Given the description of an element on the screen output the (x, y) to click on. 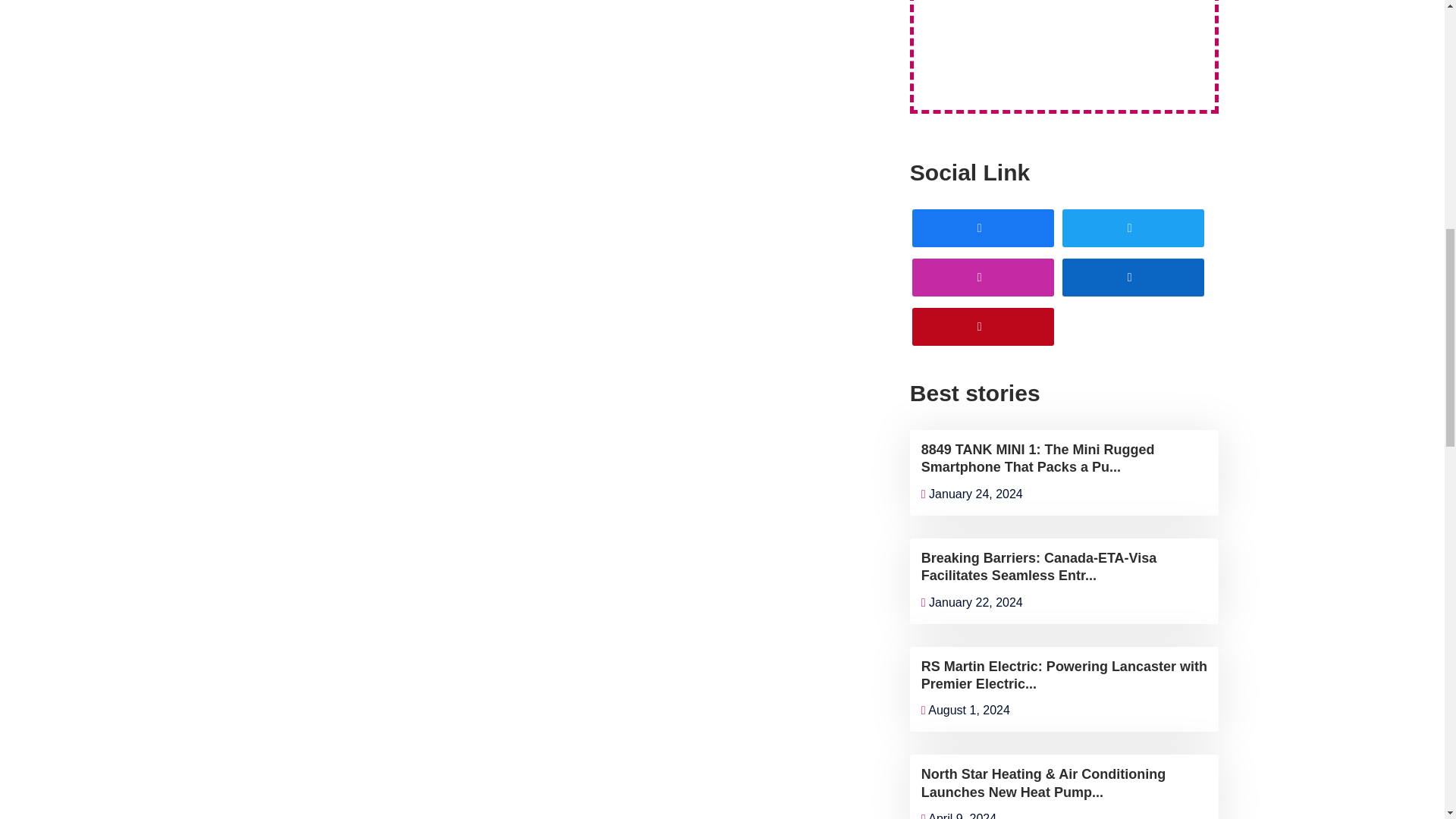
April 9, 2024 (958, 815)
January 22, 2024 (972, 602)
timeline TradingView widget (1064, 43)
August 1, 2024 (965, 709)
